Given the description of an element on the screen output the (x, y) to click on. 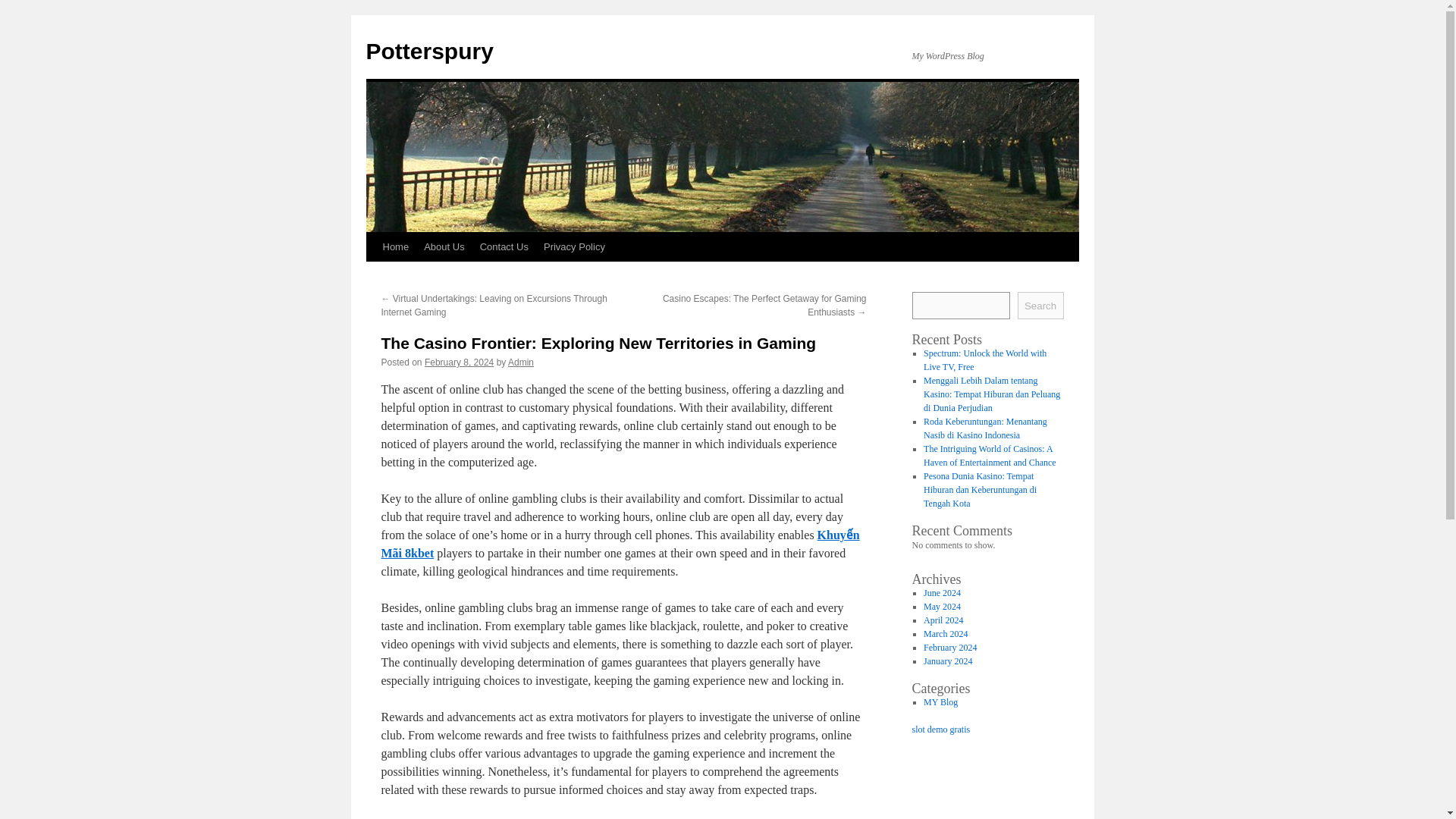
Search (1040, 305)
February 2024 (949, 647)
Contact Us (503, 246)
7:00 am (459, 362)
February 8, 2024 (459, 362)
March 2024 (945, 633)
MY Blog (940, 701)
Spectrum: Unlock the World with Live TV, Free (984, 360)
About Us (443, 246)
January 2024 (947, 661)
Potterspury (429, 50)
Admin (521, 362)
